Given the description of an element on the screen output the (x, y) to click on. 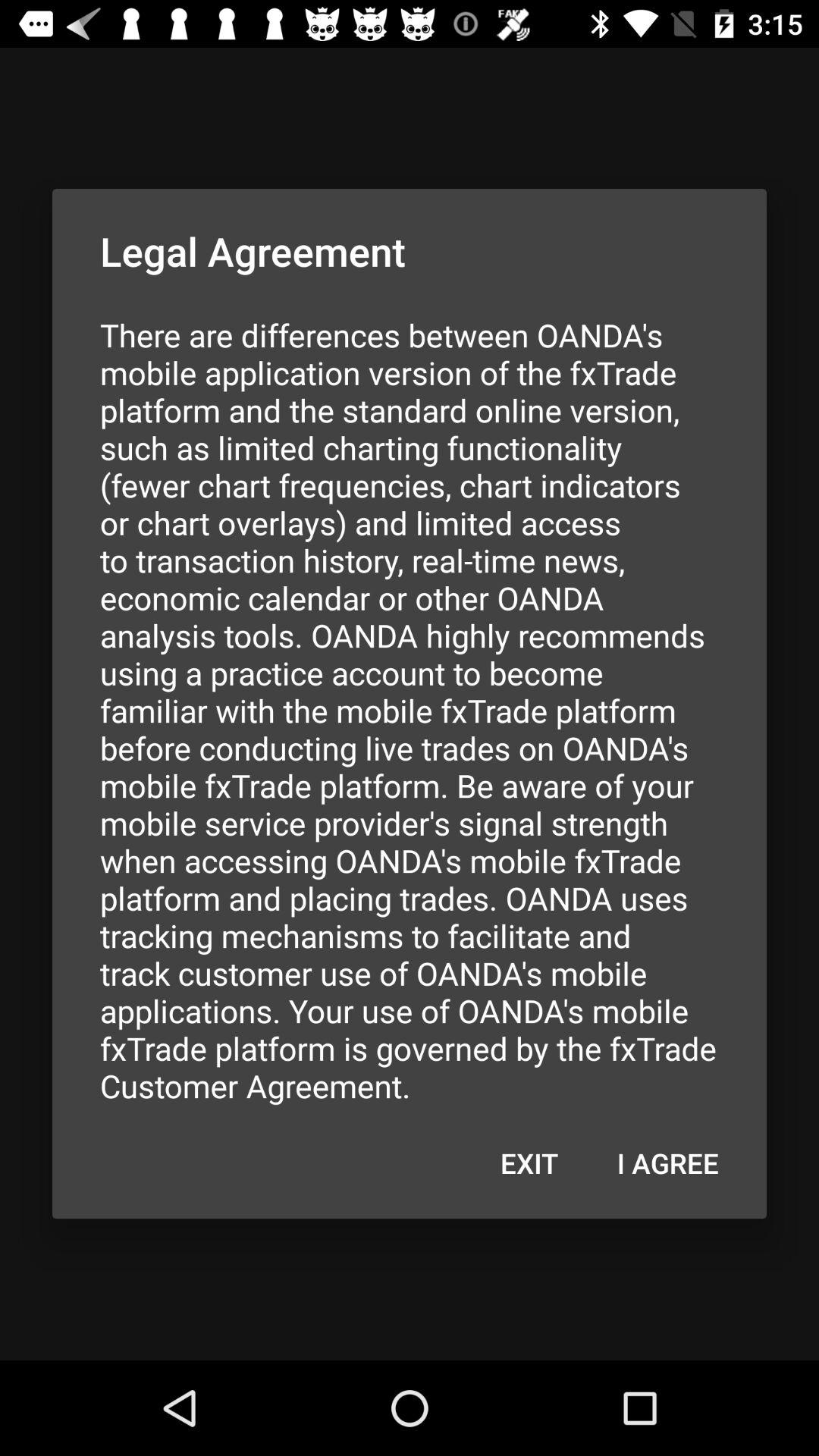
tap the icon below there are differences (529, 1162)
